Given the description of an element on the screen output the (x, y) to click on. 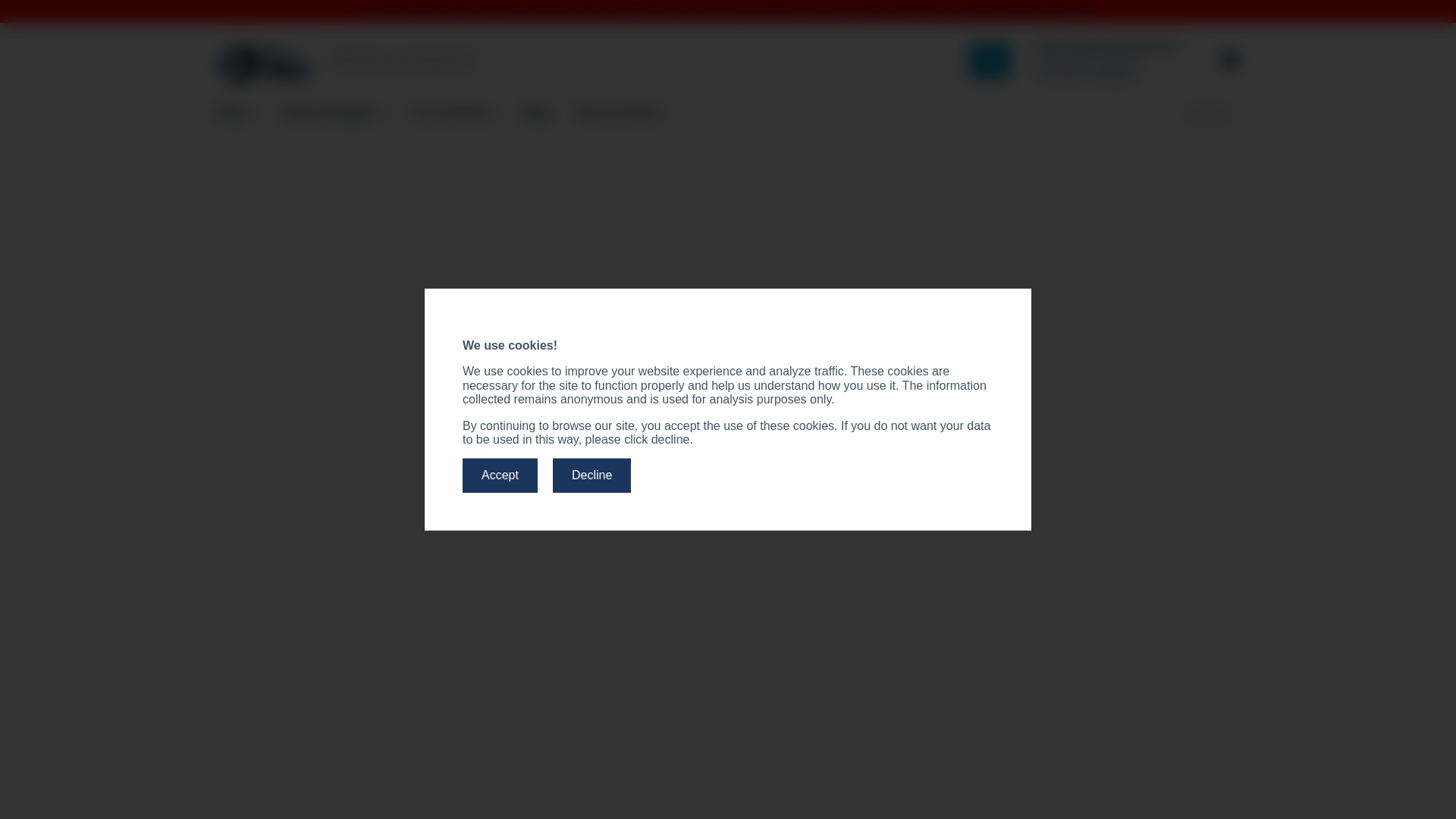
1-888-442-7070 (897, 10)
View cart (1229, 59)
Shop (235, 112)
